Given the description of an element on the screen output the (x, y) to click on. 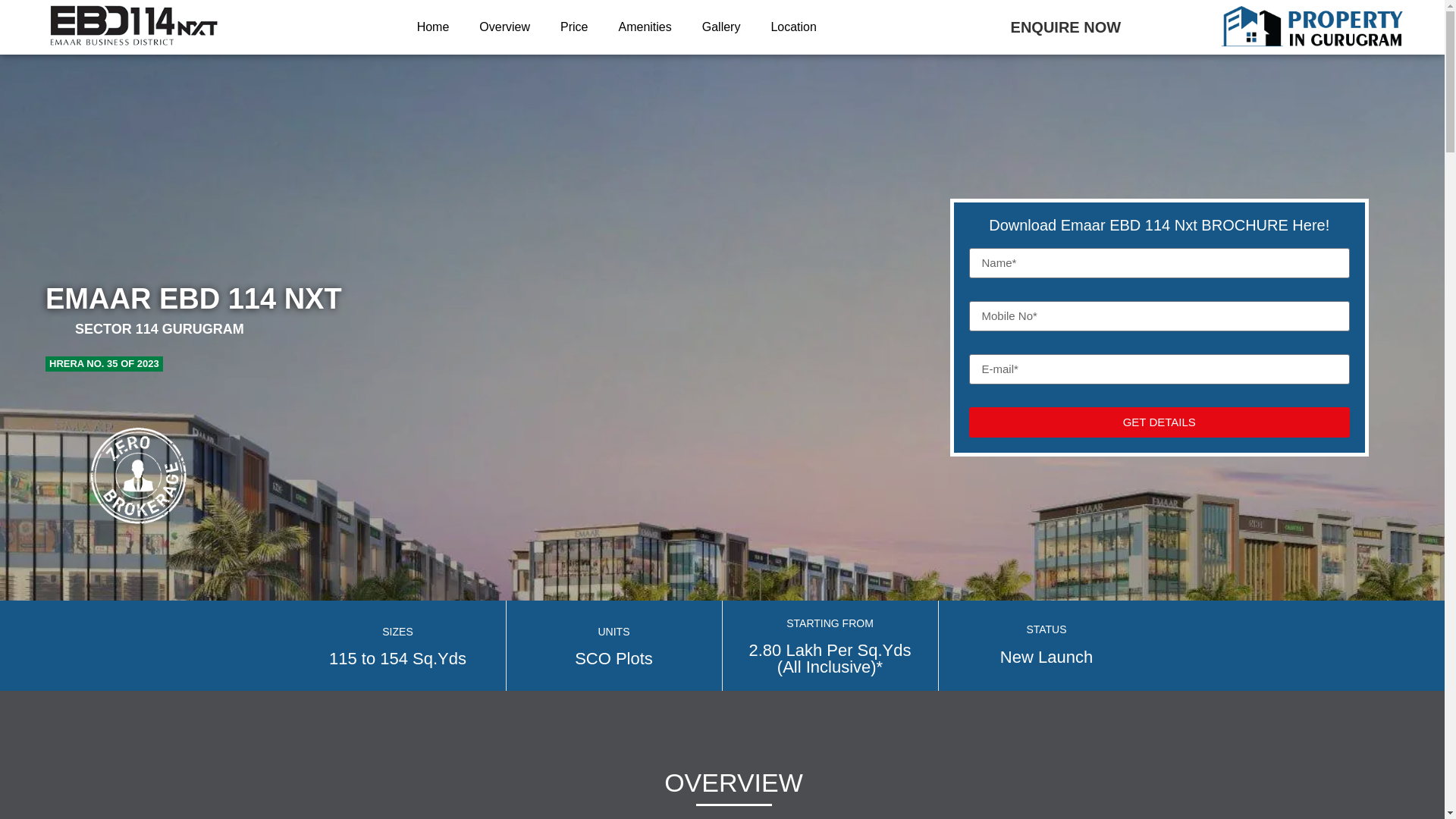
Amenities (643, 27)
Location (793, 27)
GET DETAILS (1160, 422)
Gallery (721, 27)
Price (573, 27)
ENQUIRE NOW (1065, 27)
Overview (504, 27)
Home (432, 27)
New Launch (1046, 656)
